Given the description of an element on the screen output the (x, y) to click on. 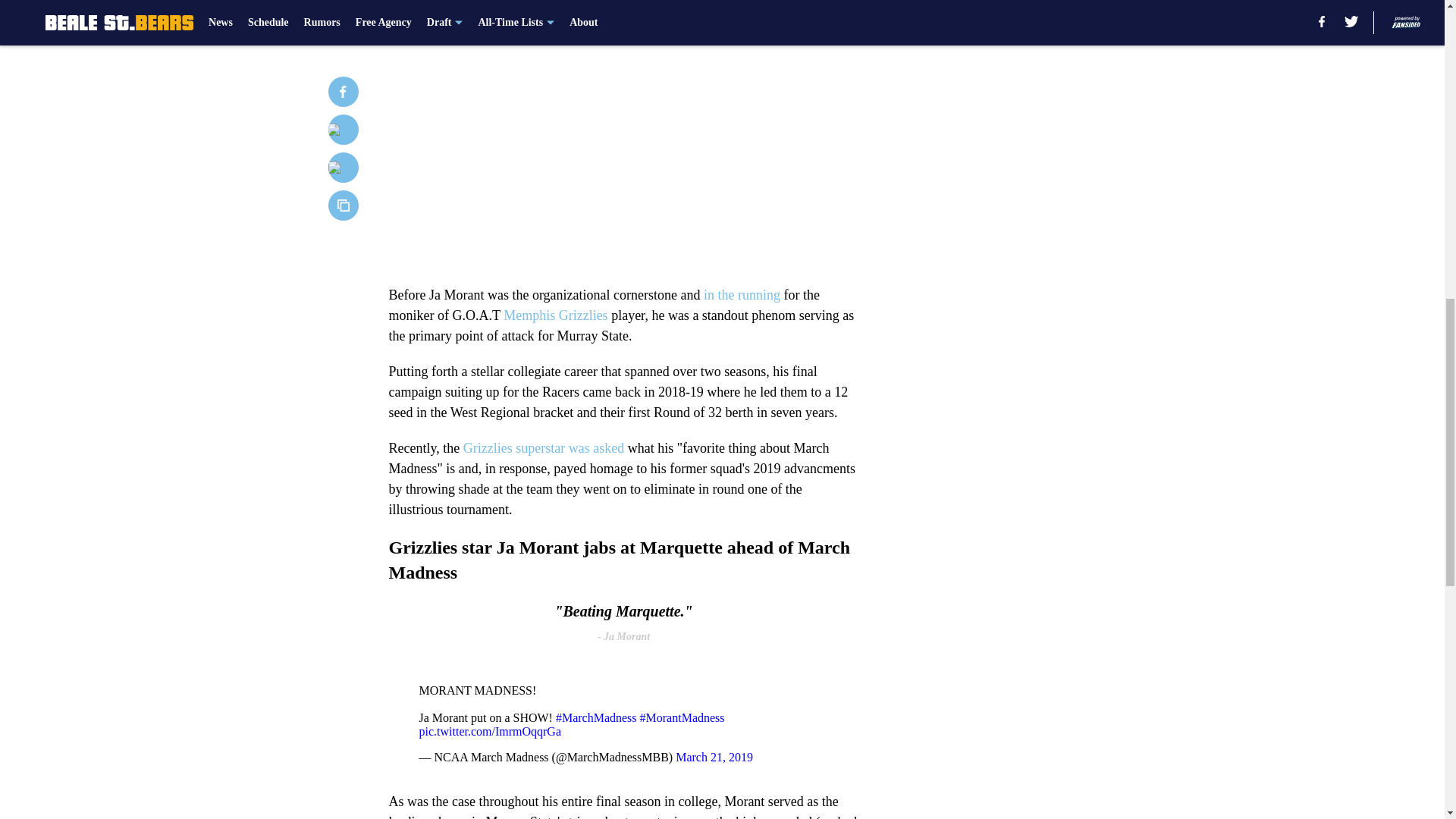
March 21, 2019 (713, 757)
Grizzlies superstar was asked (543, 447)
in the running (740, 294)
Memphis Grizzlies (555, 314)
